Given the description of an element on the screen output the (x, y) to click on. 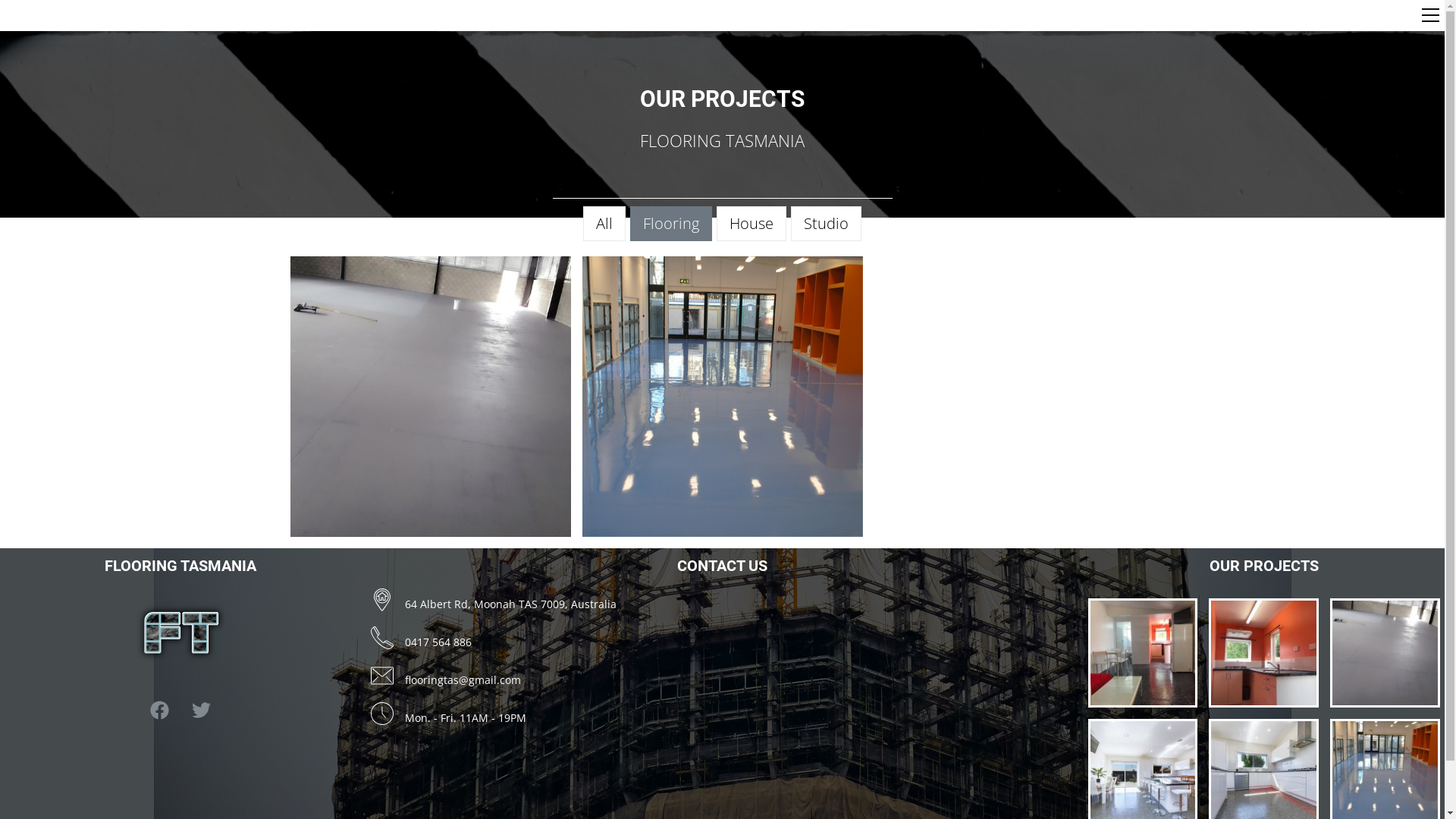
Studio Element type: text (825, 223)
Flooring Element type: text (671, 223)
All Element type: text (604, 223)
House Element type: text (751, 223)
